Given the description of an element on the screen output the (x, y) to click on. 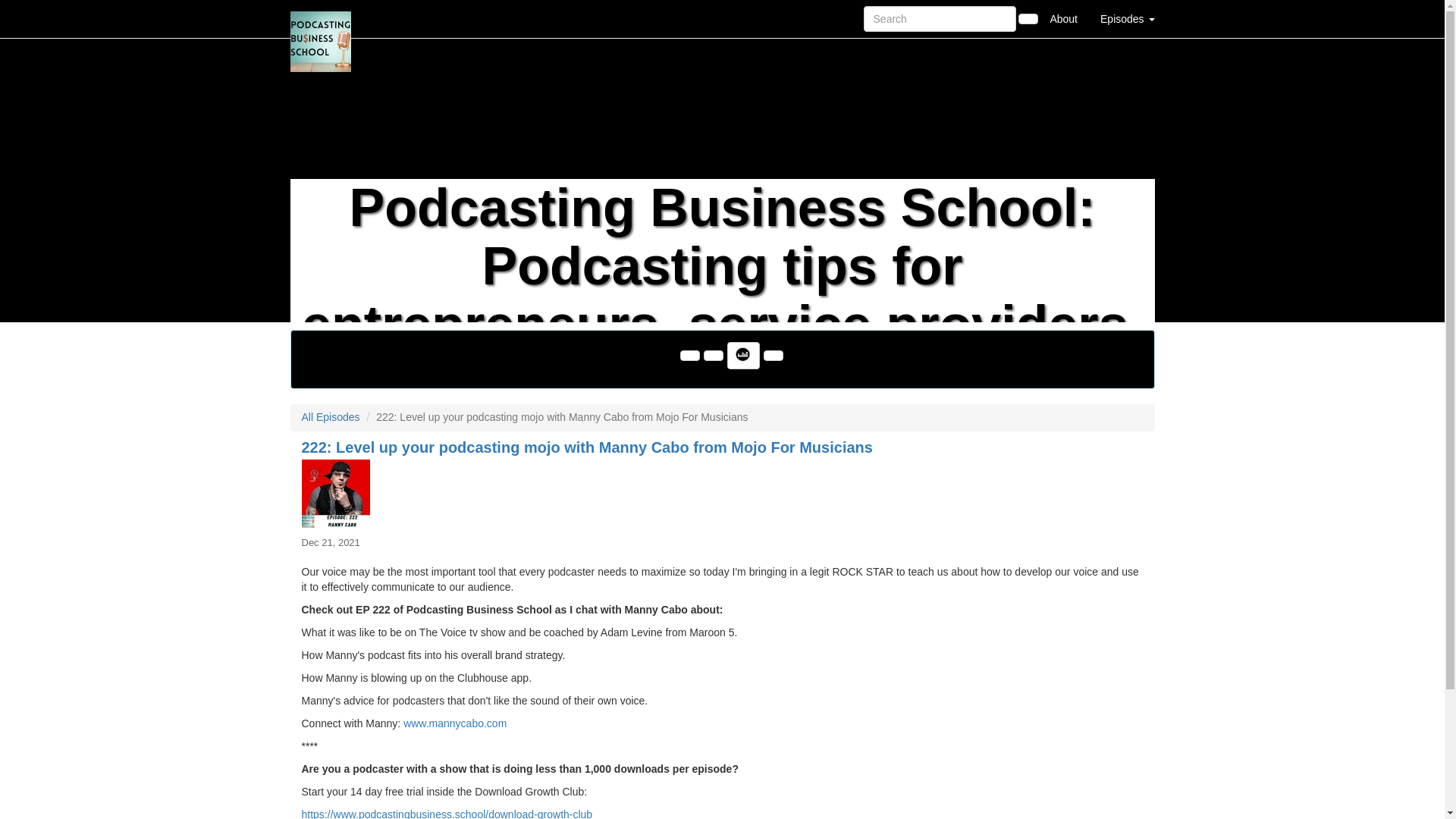
Home Page (320, 18)
About (1063, 18)
Episodes (1127, 18)
